Given the description of an element on the screen output the (x, y) to click on. 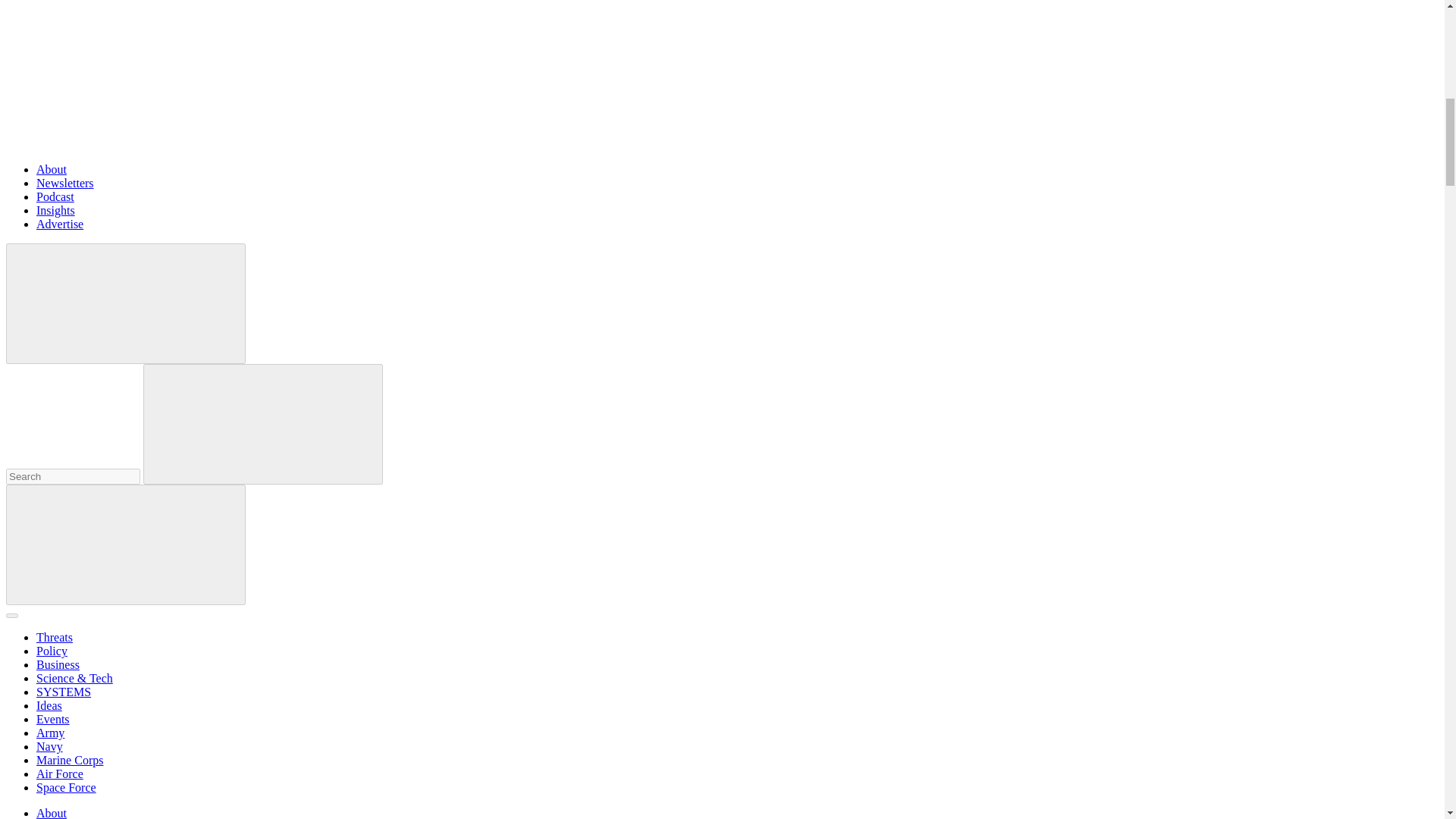
Marine Corps (69, 759)
Business (58, 664)
Newsletters (65, 182)
Insights (55, 210)
Podcast (55, 196)
Space Force (66, 787)
Ideas (49, 705)
Advertise (59, 223)
SYSTEMS (63, 691)
About (51, 812)
Events (52, 718)
About (51, 169)
Army (50, 732)
Navy (49, 746)
Threats (54, 636)
